Given the description of an element on the screen output the (x, y) to click on. 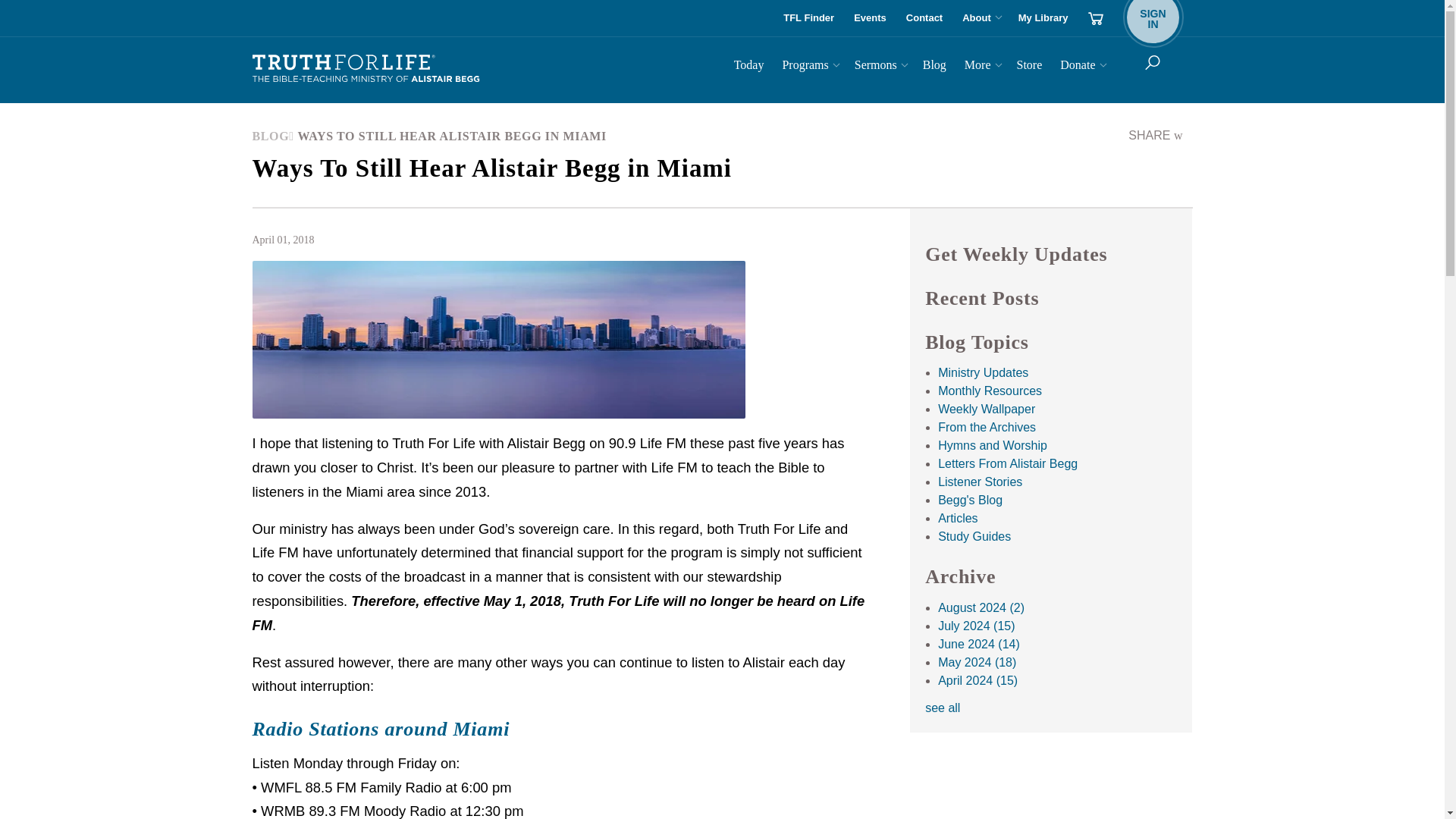
Events (869, 18)
Sermons (879, 66)
TFL Finder (808, 18)
Truth For Life (365, 68)
Contact (924, 18)
Programs (808, 66)
About (980, 18)
cart (1095, 18)
My Library (1043, 18)
Today (1152, 18)
